Given the description of an element on the screen output the (x, y) to click on. 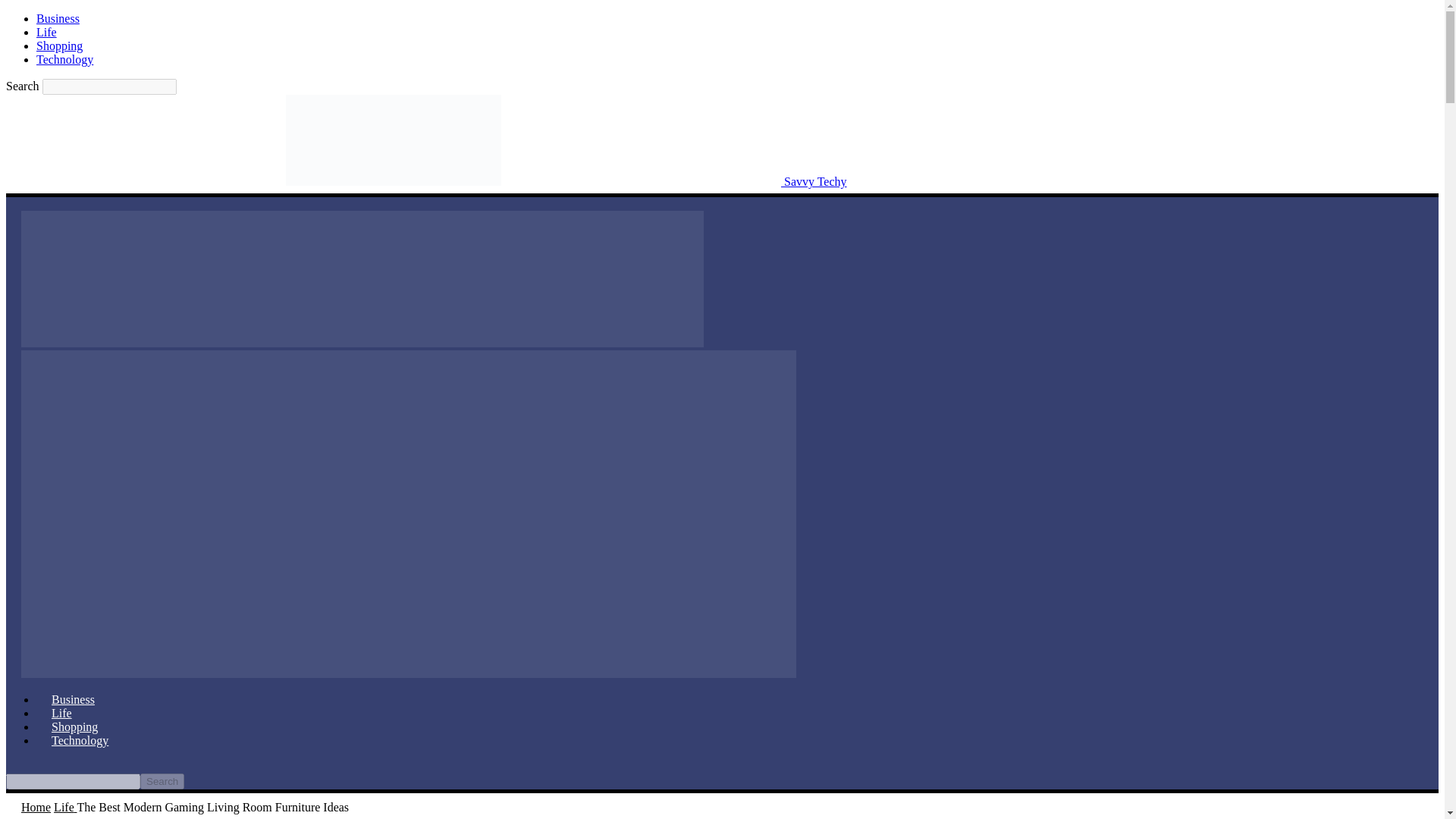
Shopping (59, 45)
Search (161, 781)
Life (46, 31)
Shopping (74, 726)
Life (65, 807)
Search (161, 781)
Technology (64, 59)
Savvy Techy (426, 181)
View all posts in Life (65, 807)
Business (58, 18)
Life (61, 712)
Technology (79, 739)
Business (73, 698)
Home (35, 807)
